Given the description of an element on the screen output the (x, y) to click on. 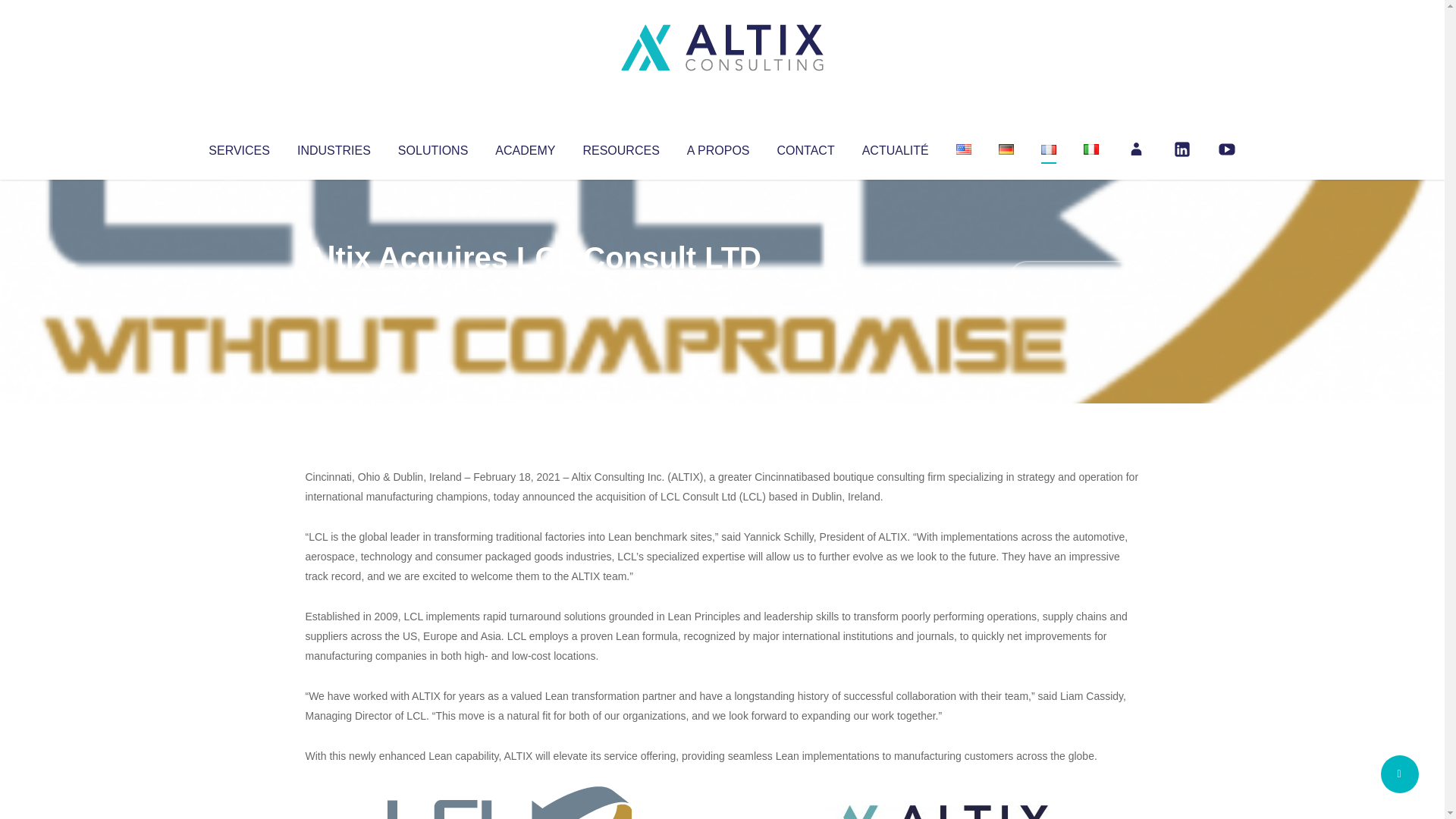
A PROPOS (718, 146)
Articles par Altix (333, 287)
SERVICES (238, 146)
SOLUTIONS (432, 146)
No Comments (1073, 278)
RESOURCES (620, 146)
Altix (333, 287)
INDUSTRIES (334, 146)
Uncategorized (530, 287)
ACADEMY (524, 146)
